Given the description of an element on the screen output the (x, y) to click on. 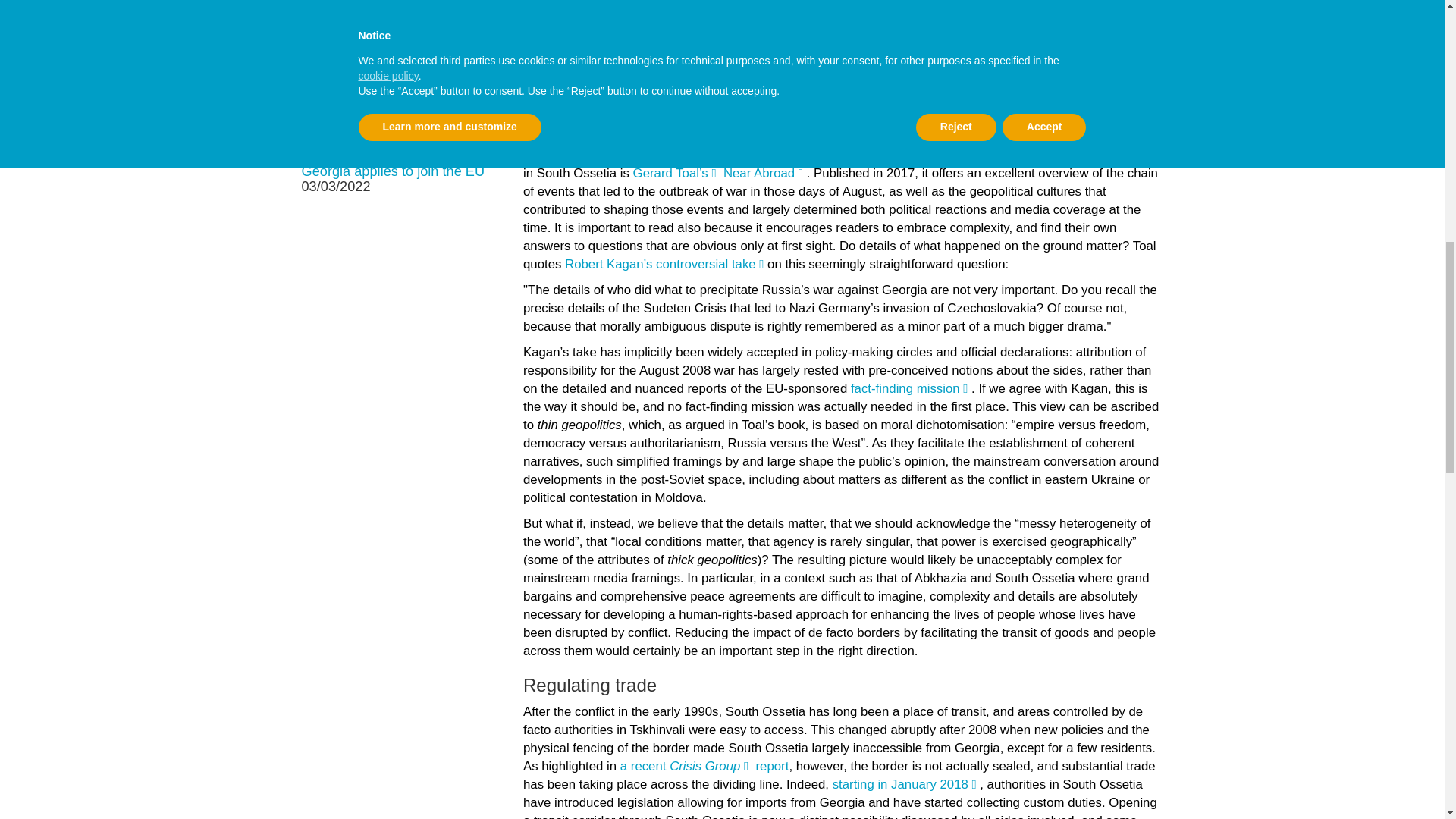
Link a Ispionline (676, 129)
Link a recent  (649, 766)
Link a starting in January 2018 (905, 784)
Link a Near Abroad (764, 173)
Link a Crisis Group (710, 766)
Link a fact-finding mission (910, 388)
